Given the description of an element on the screen output the (x, y) to click on. 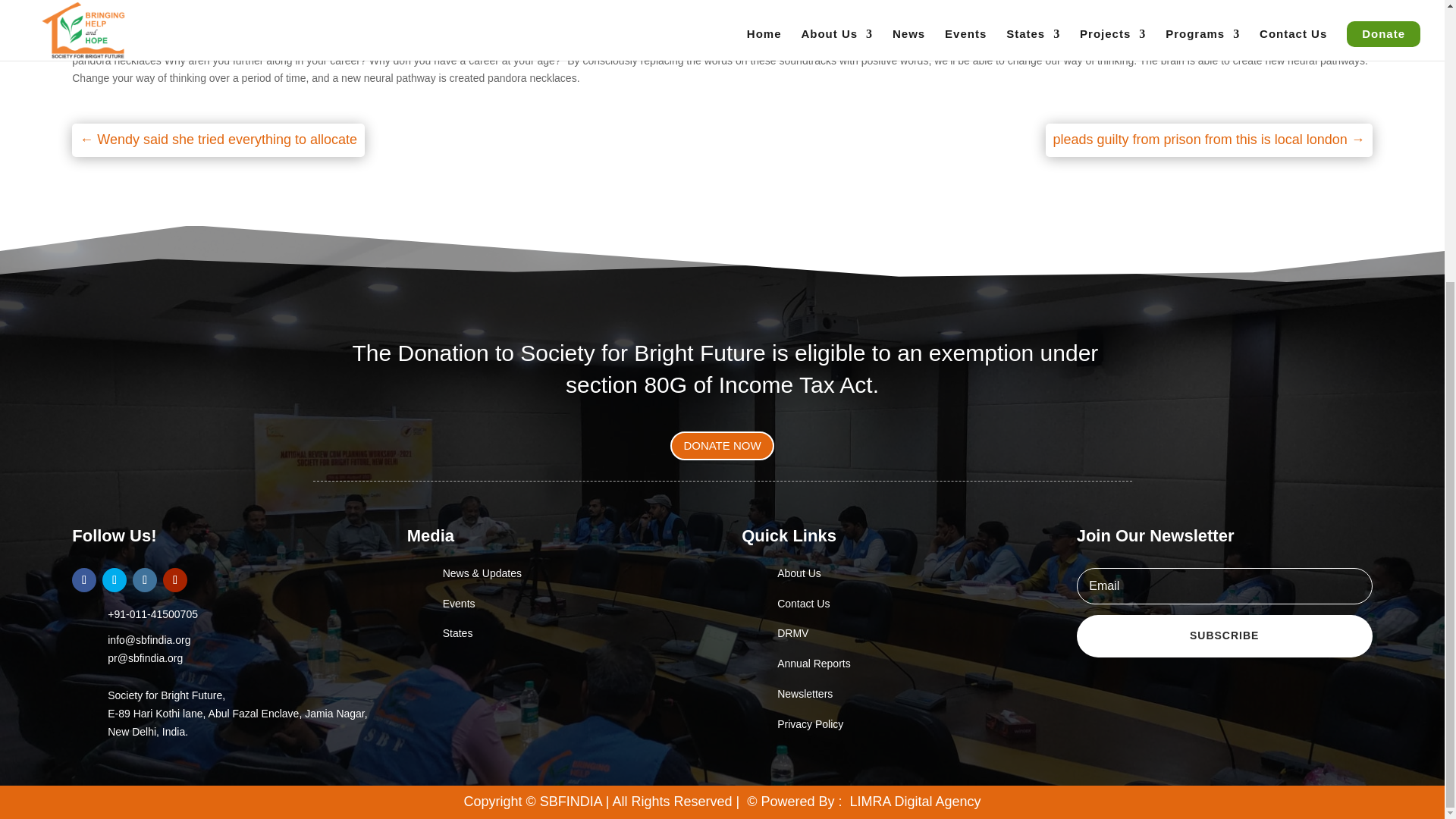
Follow on Instagram (144, 580)
Follow on Facebook (83, 580)
Follow on Twitter (113, 580)
DONATE NOW (721, 446)
Follow on Youtube (175, 580)
